Given the description of an element on the screen output the (x, y) to click on. 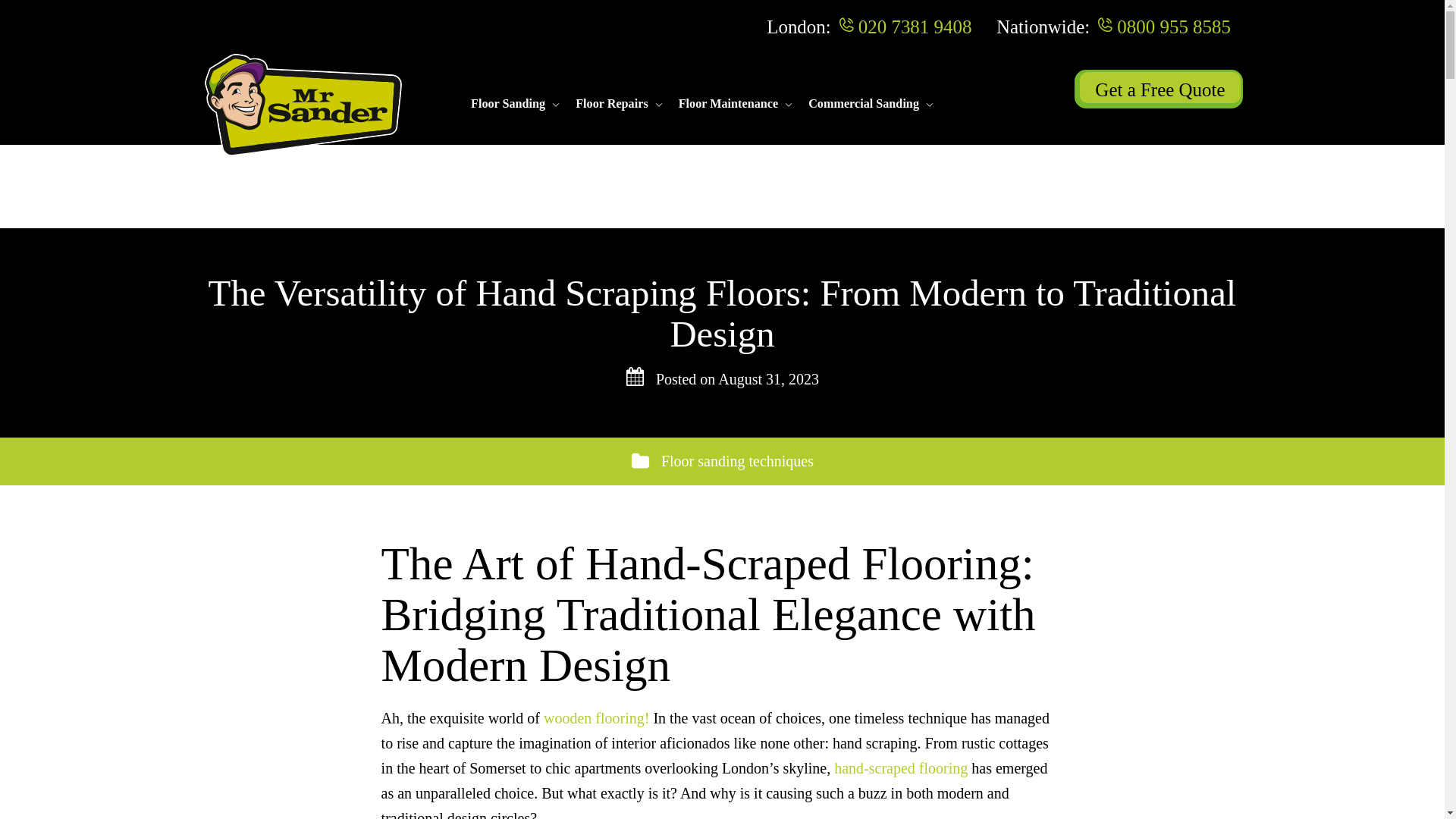
020 7381 9408 (915, 26)
Floor Maintenance (727, 104)
Floor Repairs (611, 104)
Floor Sanding (507, 104)
0800 955 8585 (1173, 26)
